Given the description of an element on the screen output the (x, y) to click on. 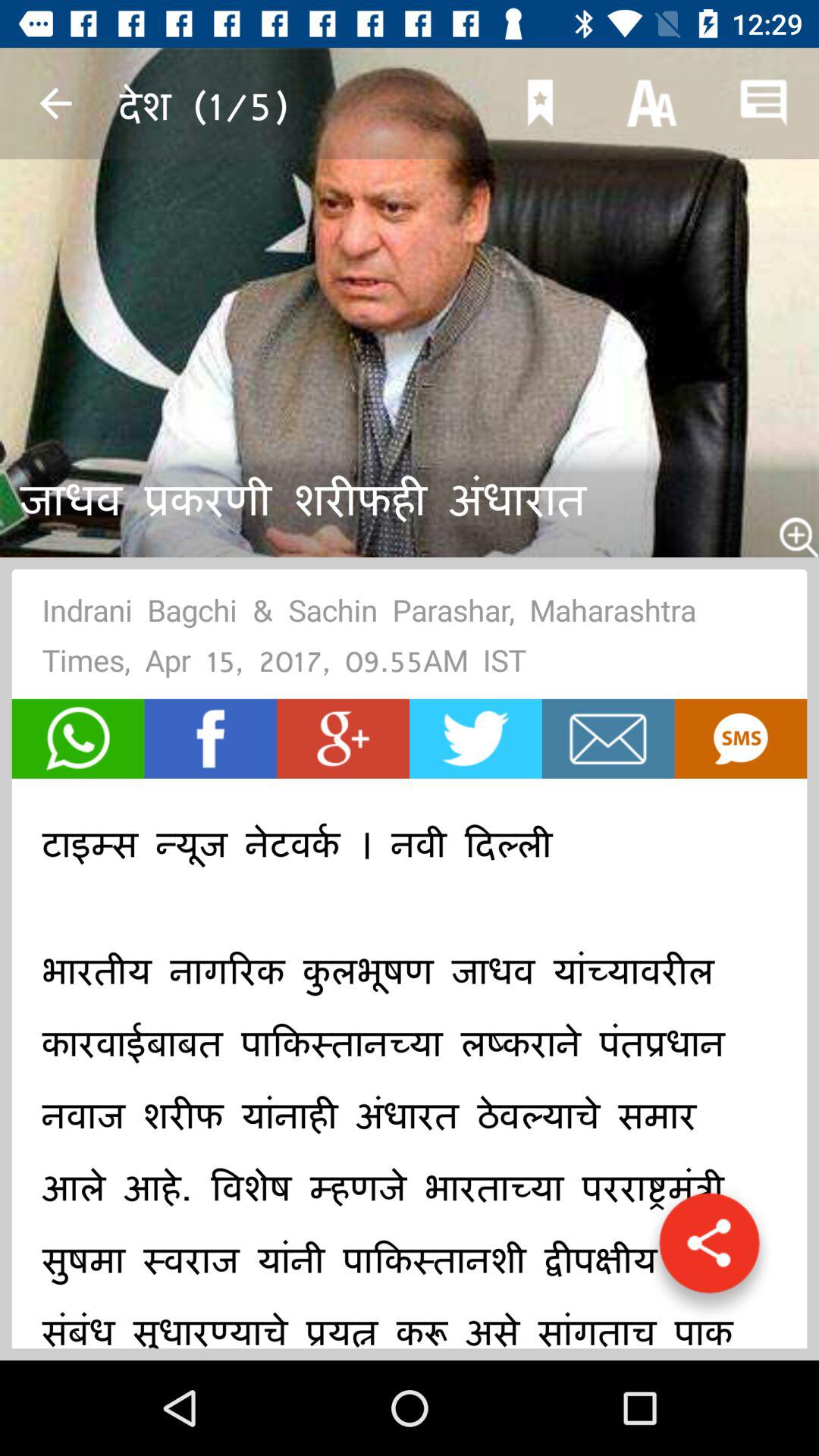
google (342, 738)
